Given the description of an element on the screen output the (x, y) to click on. 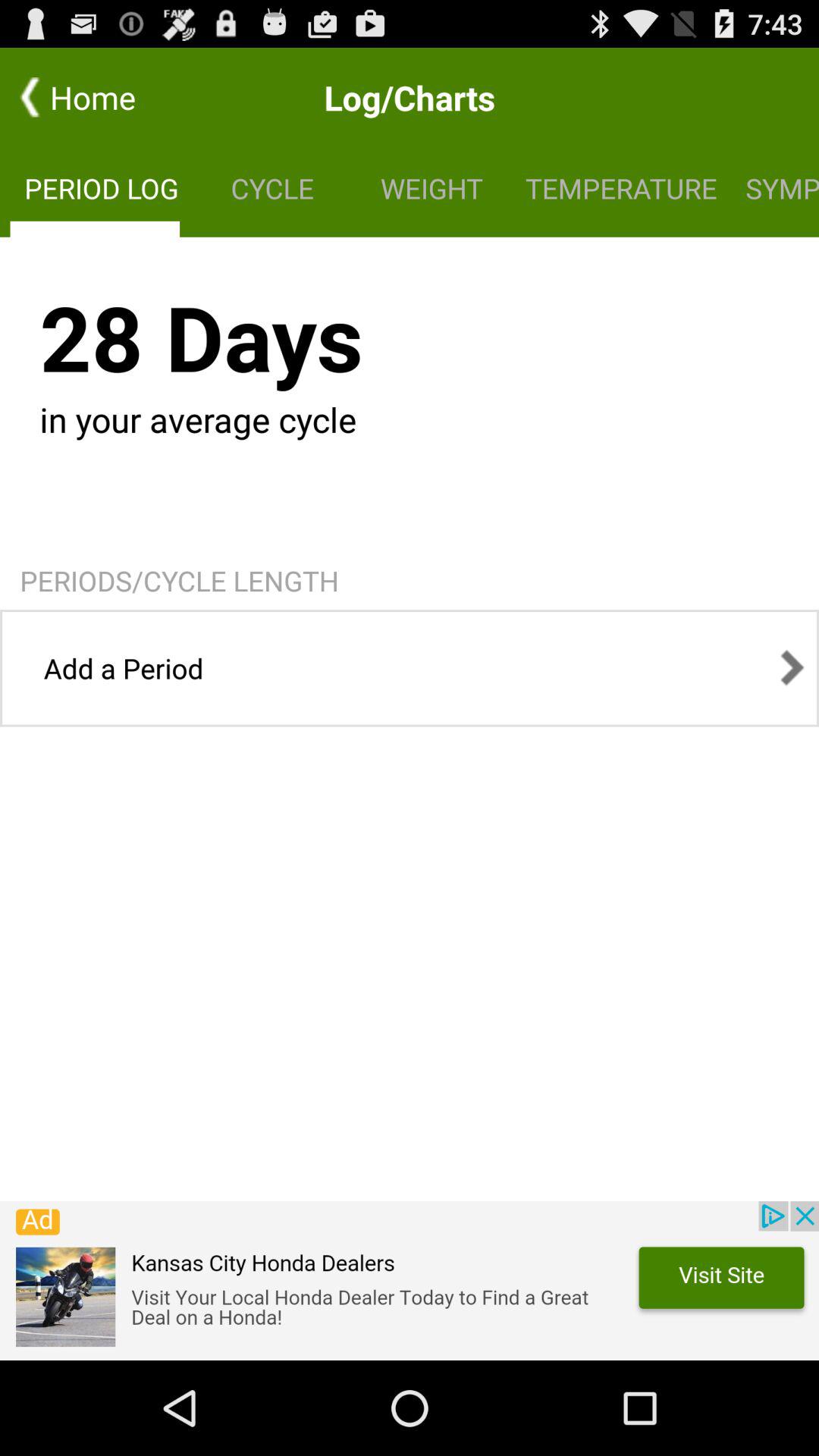
site icon (409, 1280)
